Given the description of an element on the screen output the (x, y) to click on. 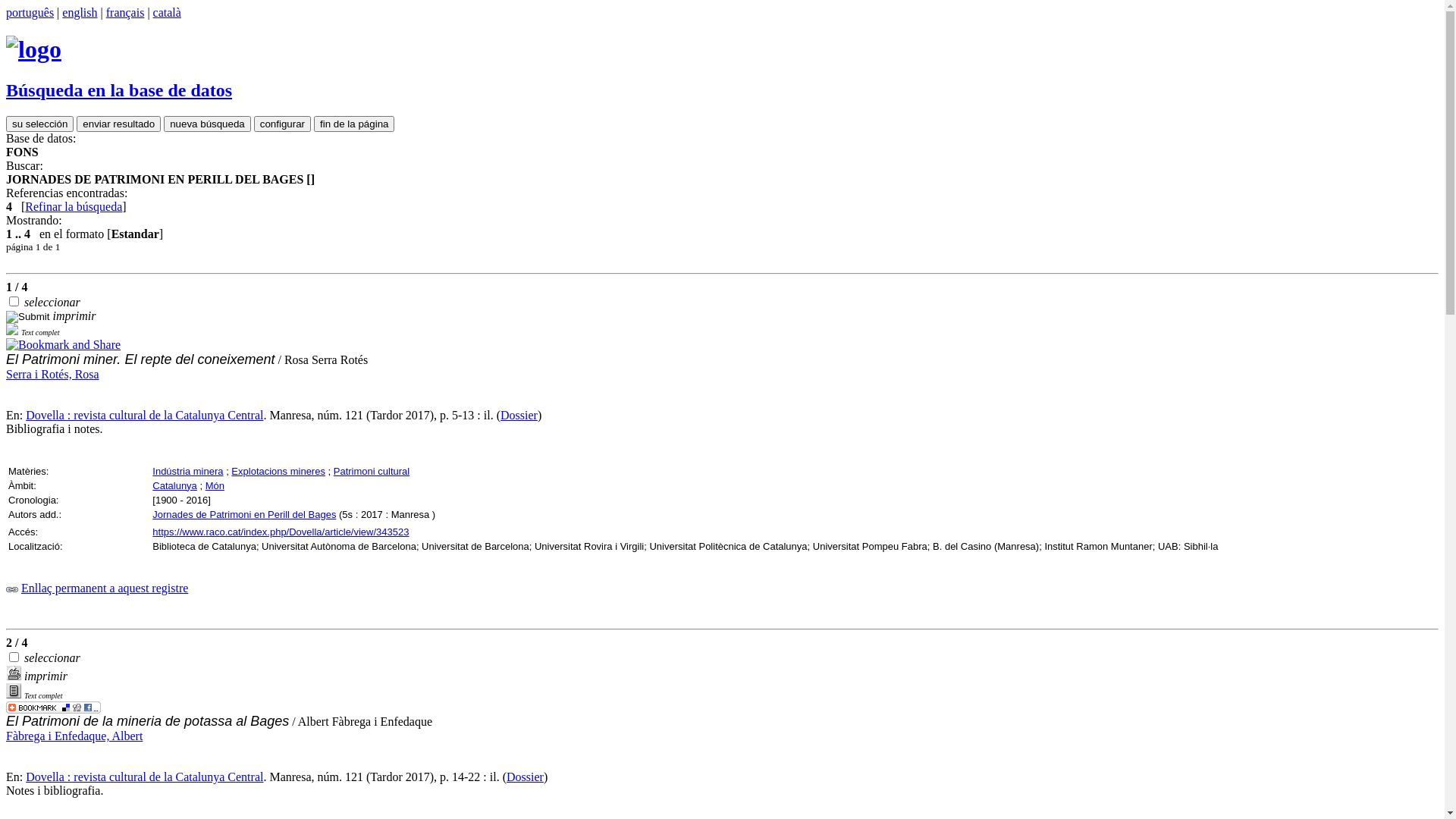
enviar resultado Element type: text (118, 123)
Patrimoni cultural Element type: text (371, 470)
Dossier Element type: text (524, 776)
Dossier Element type: text (518, 414)
Dovella : revista cultural de la Catalunya Central Element type: text (144, 776)
https://www.raco.cat/index.php/Dovella/article/view/343523 Element type: text (280, 531)
Dovella : revista cultural de la Catalunya Central Element type: text (144, 414)
Catalunya Element type: text (174, 485)
english Element type: text (79, 12)
Jornades de Patrimoni en Perill del Bages Element type: text (243, 514)
configurar Element type: text (282, 123)
Explotacions mineres Element type: text (278, 470)
